Given the description of an element on the screen output the (x, y) to click on. 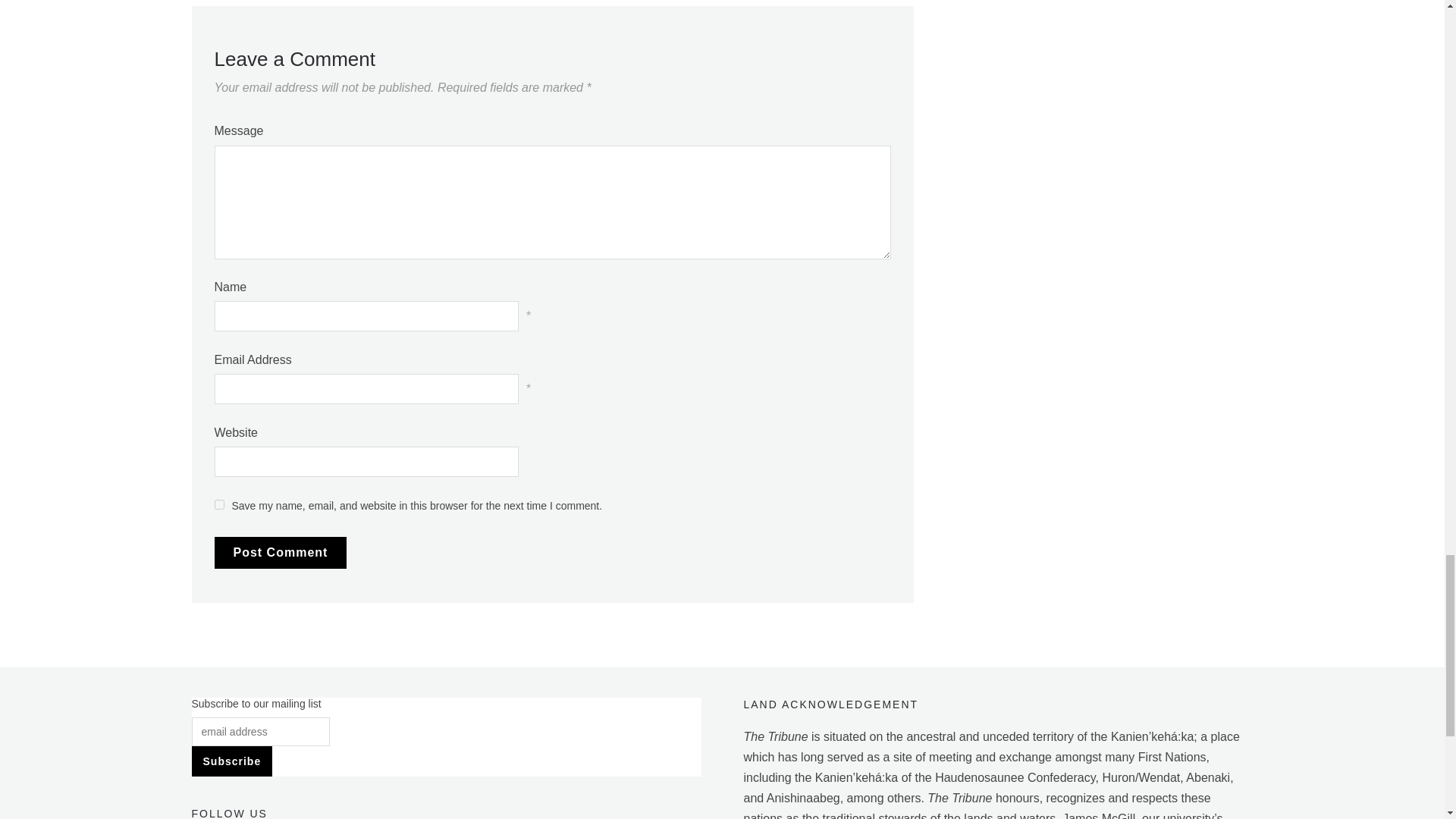
Post Comment (280, 552)
Subscribe (231, 761)
yes (219, 504)
